Given the description of an element on the screen output the (x, y) to click on. 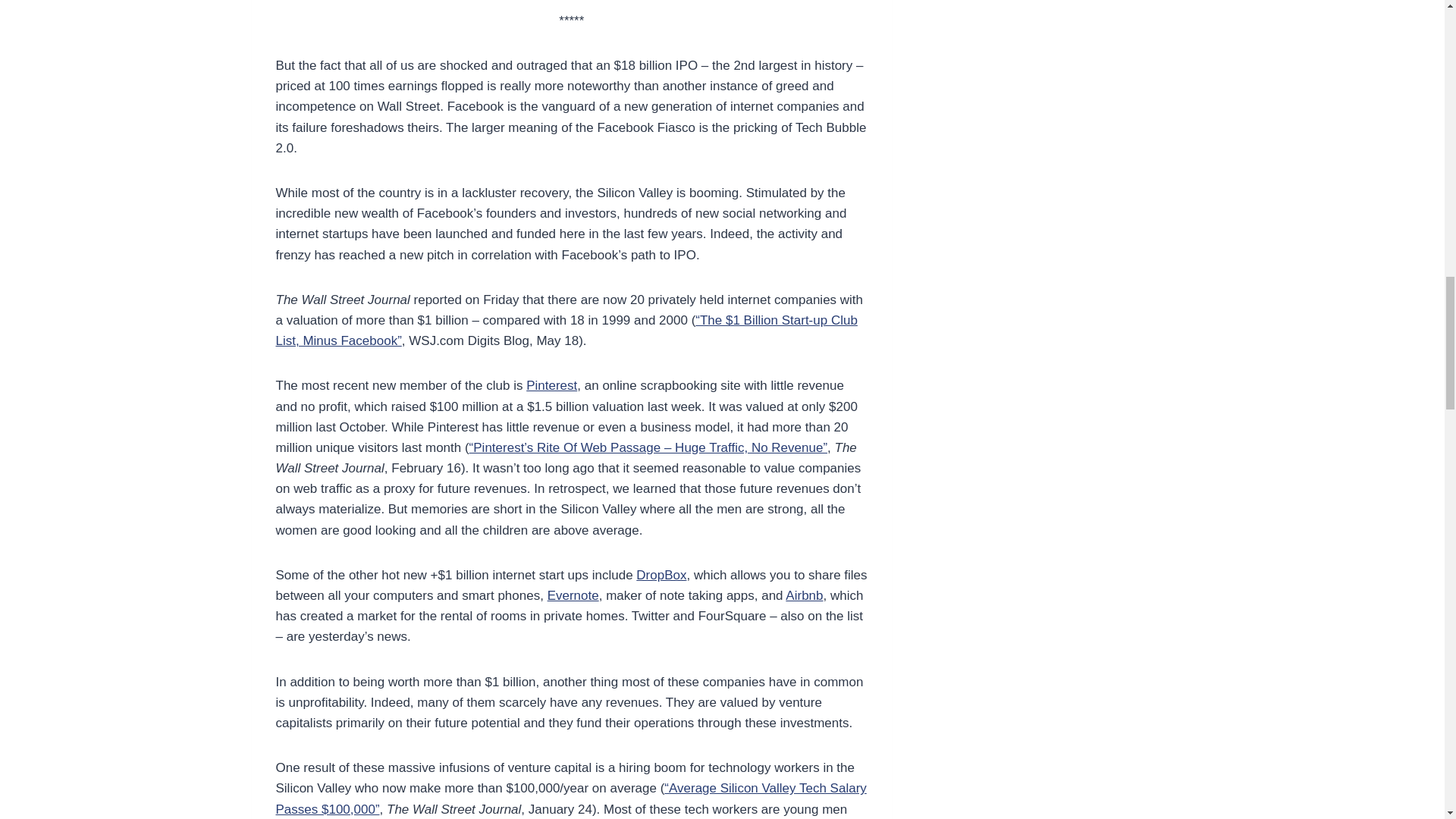
Evernote (572, 595)
DropBox (660, 575)
Airbnb (804, 595)
Pinterest (550, 385)
